Given the description of an element on the screen output the (x, y) to click on. 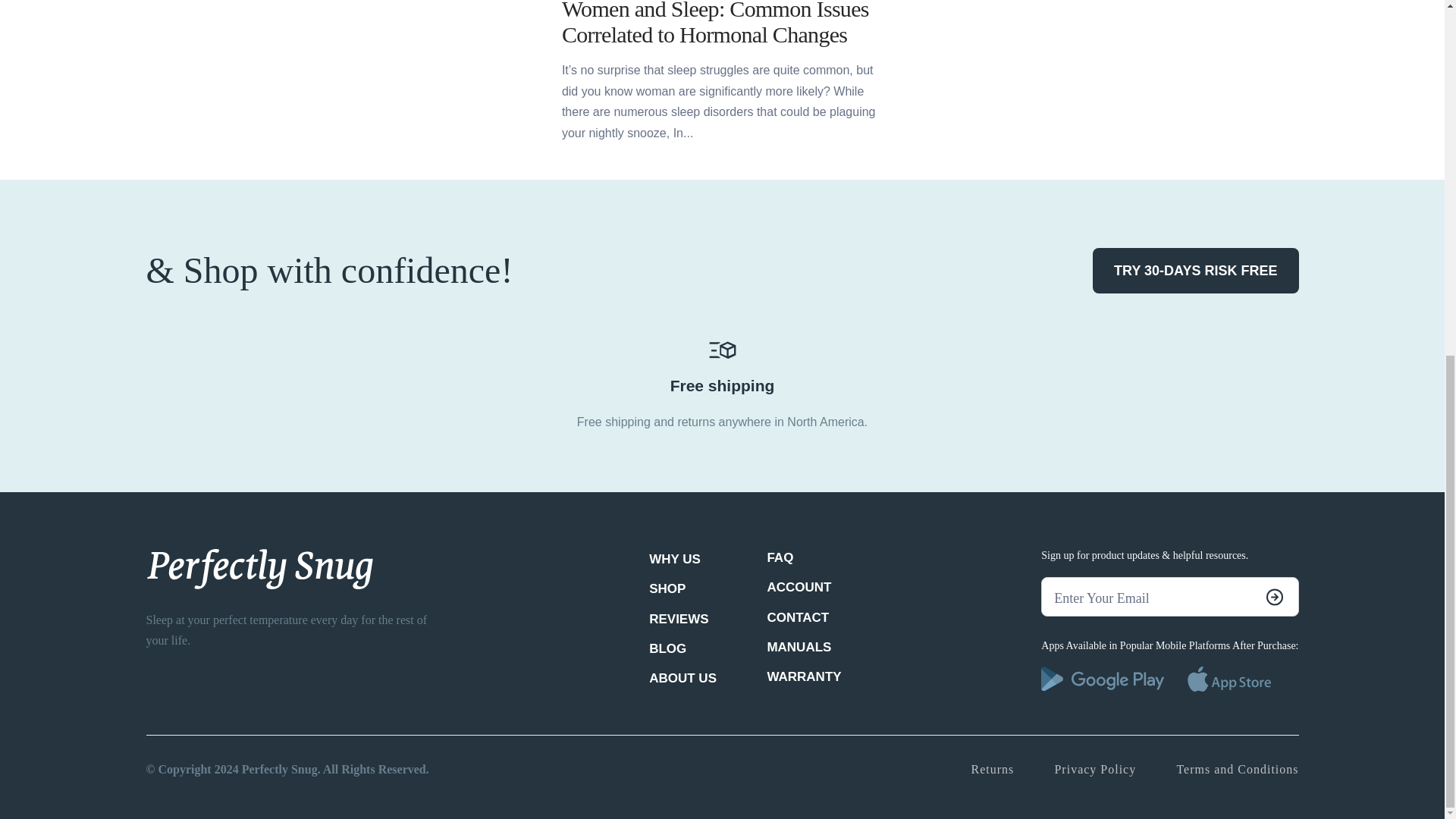
SHOP (667, 588)
FAQ (780, 557)
ACCOUNT (799, 587)
TRY 30-DAYS RISK FREE (1195, 271)
REVIEWS (678, 618)
Returns (992, 768)
BLOG (667, 649)
WARRANTY (804, 676)
ABOUT US (682, 678)
CONTACT (797, 617)
